Given the description of an element on the screen output the (x, y) to click on. 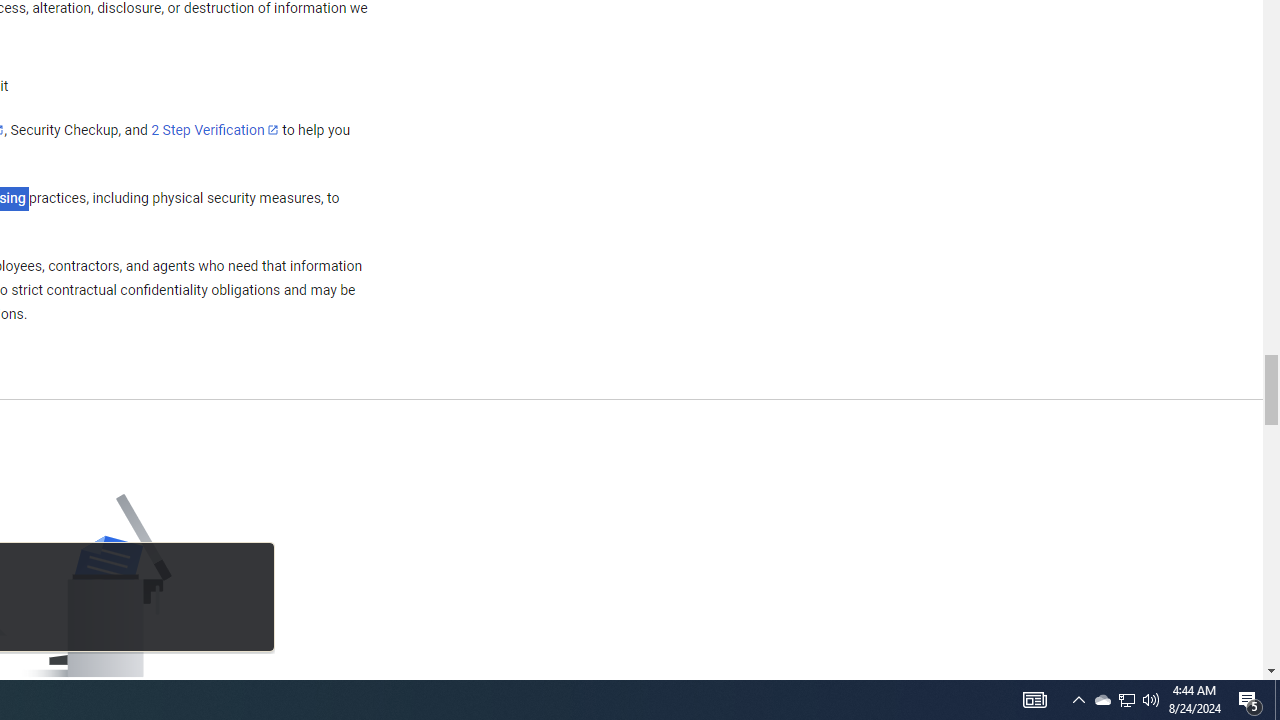
2 Step Verification (215, 129)
